Given the description of an element on the screen output the (x, y) to click on. 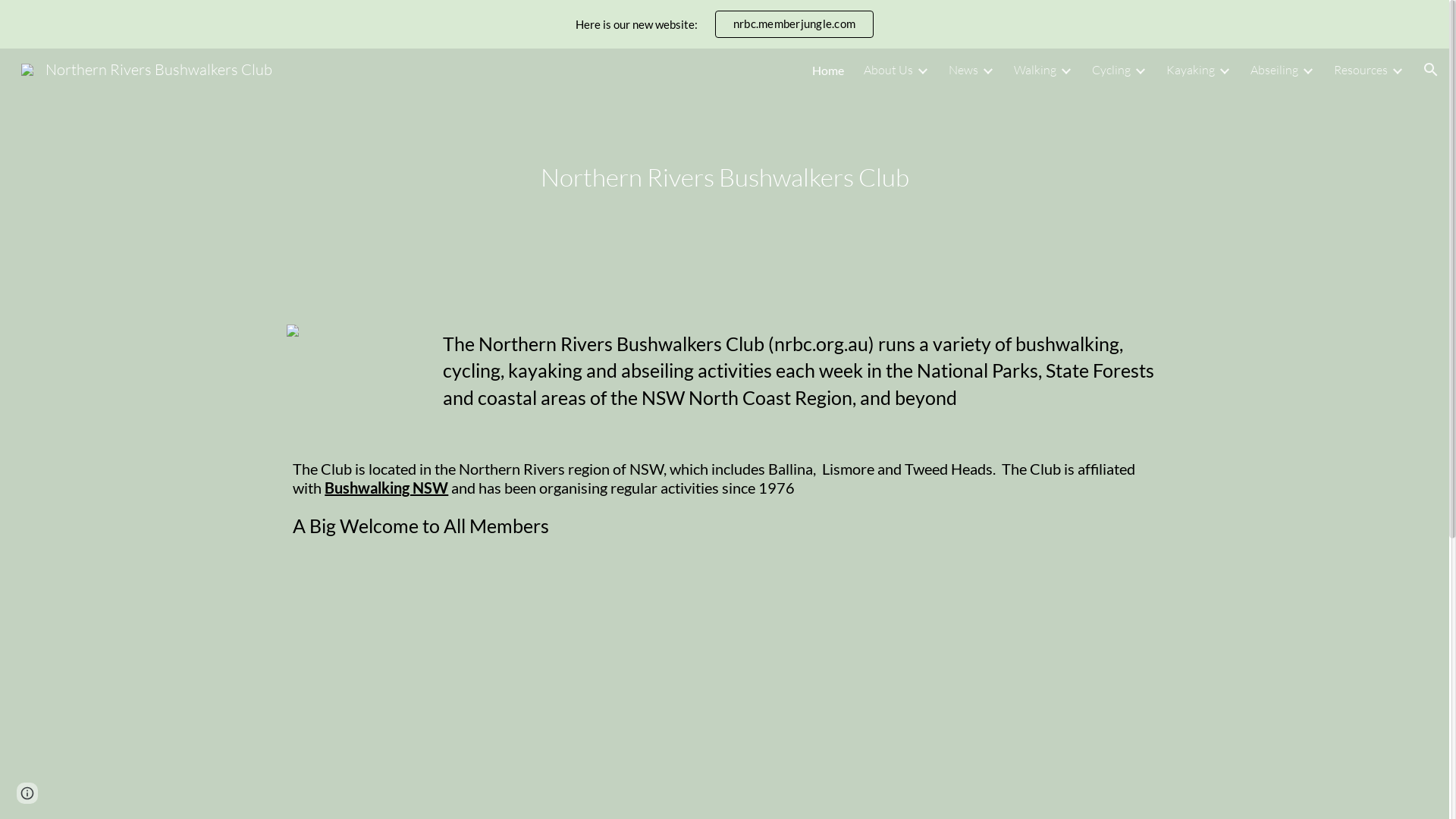
Expand/Collapse Element type: hover (921, 69)
Expand/Collapse Element type: hover (1223, 69)
News Element type: text (963, 69)
Expand/Collapse Element type: hover (1065, 69)
Home Element type: text (828, 69)
Expand/Collapse Element type: hover (1139, 69)
Northern Rivers Bushwalkers Club Element type: text (146, 67)
Bushwalking NSW Element type: text (386, 487)
Expand/Collapse Element type: hover (1396, 69)
Cycling Element type: text (1111, 69)
Abseiling Element type: text (1274, 69)
Walking Element type: text (1034, 69)
Expand/Collapse Element type: hover (987, 69)
nrbc.memberjungle.com Element type: text (793, 24)
Expand/Collapse Element type: hover (1307, 69)
About Us Element type: text (888, 69)
Kayaking Element type: text (1190, 69)
Resources Element type: text (1360, 69)
